Given the description of an element on the screen output the (x, y) to click on. 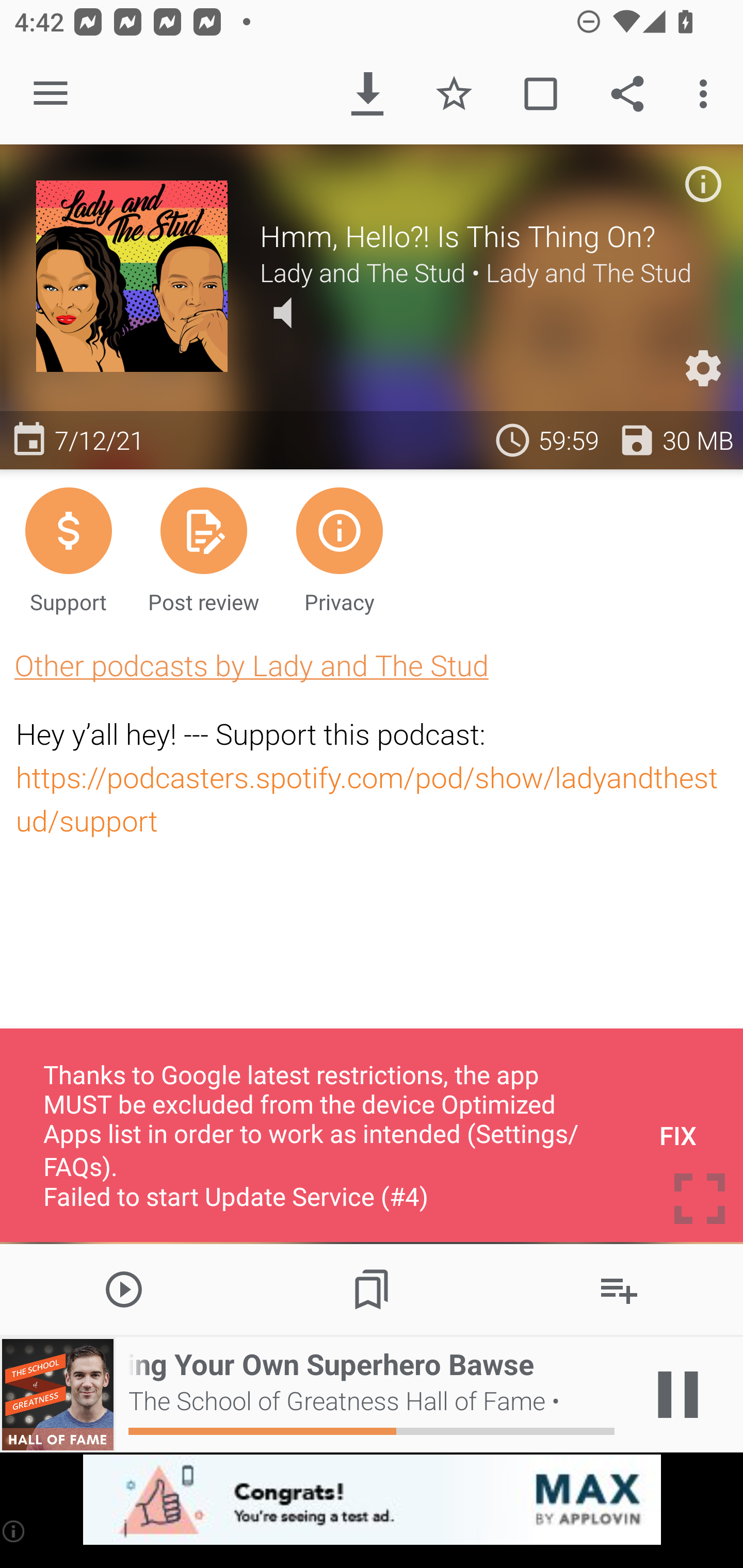
Open navigation sidebar (50, 93)
Download (366, 93)
Favorite (453, 93)
Mark played / unplayed (540, 93)
Share (626, 93)
More options (706, 93)
Podcast description (703, 184)
Hmm, Hello?! Is This Thing On? (483, 235)
Custom Settings (703, 368)
Support (68, 549)
Post review (203, 549)
Privacy (339, 549)
Other podcasts by Lady and The Stud (251, 665)
FIX (677, 1135)
Toggle full screen mode (699, 1198)
Play (123, 1288)
Chapters / Bookmarks (371, 1288)
Add to Playlist (619, 1288)
Play / Pause (677, 1394)
app-monetization (371, 1500)
(i) (14, 1531)
